Given the description of an element on the screen output the (x, y) to click on. 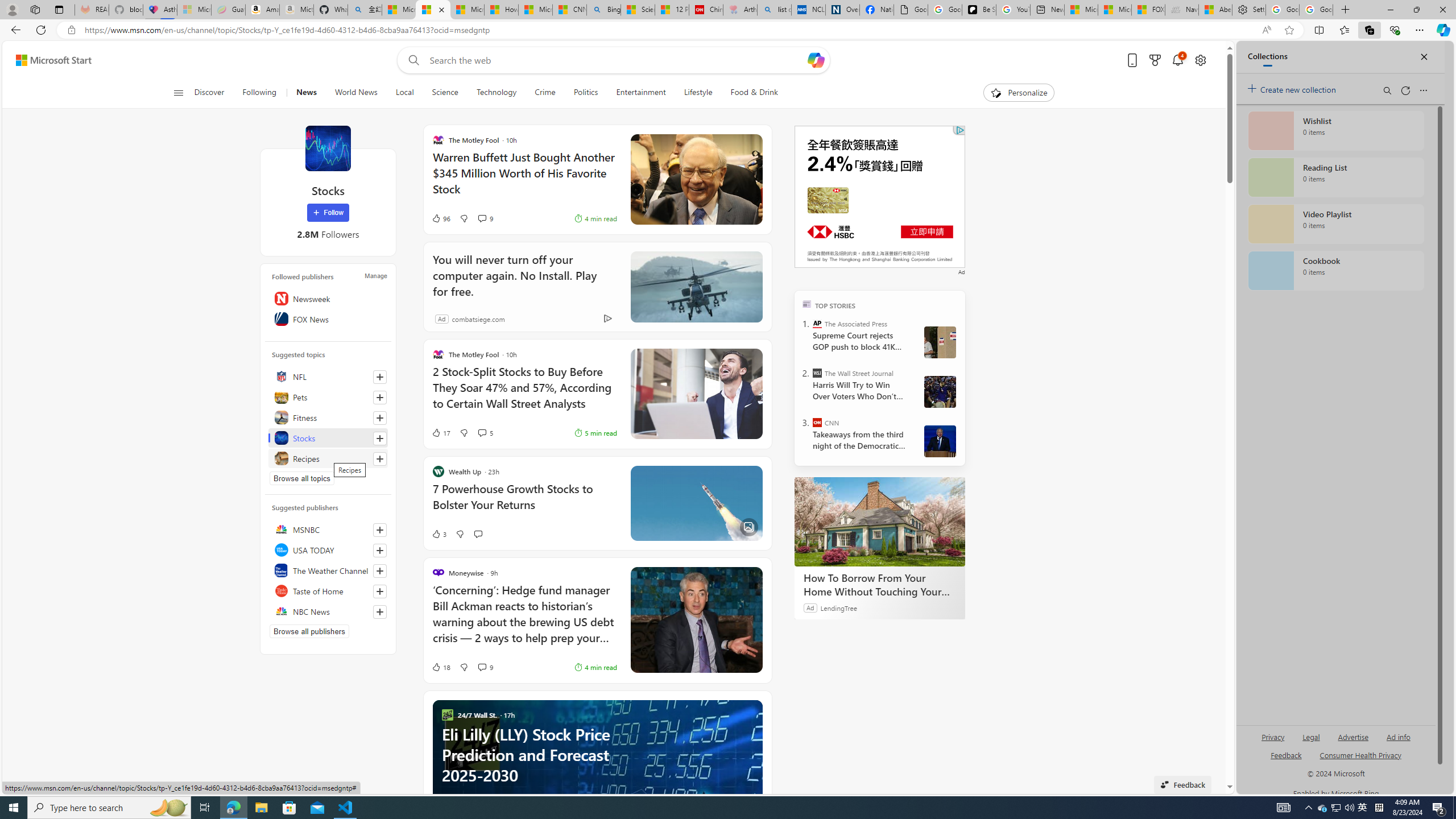
Follow this topic (379, 458)
Google Analytics Opt-out Browser Add-on Download Page (911, 9)
AutomationID: sb_feedback (1286, 754)
Browse all publishers (309, 631)
Arthritis: Ask Health Professionals - Sleeping (739, 9)
Manage (375, 275)
Taste of Home (327, 590)
